Given the description of an element on the screen output the (x, y) to click on. 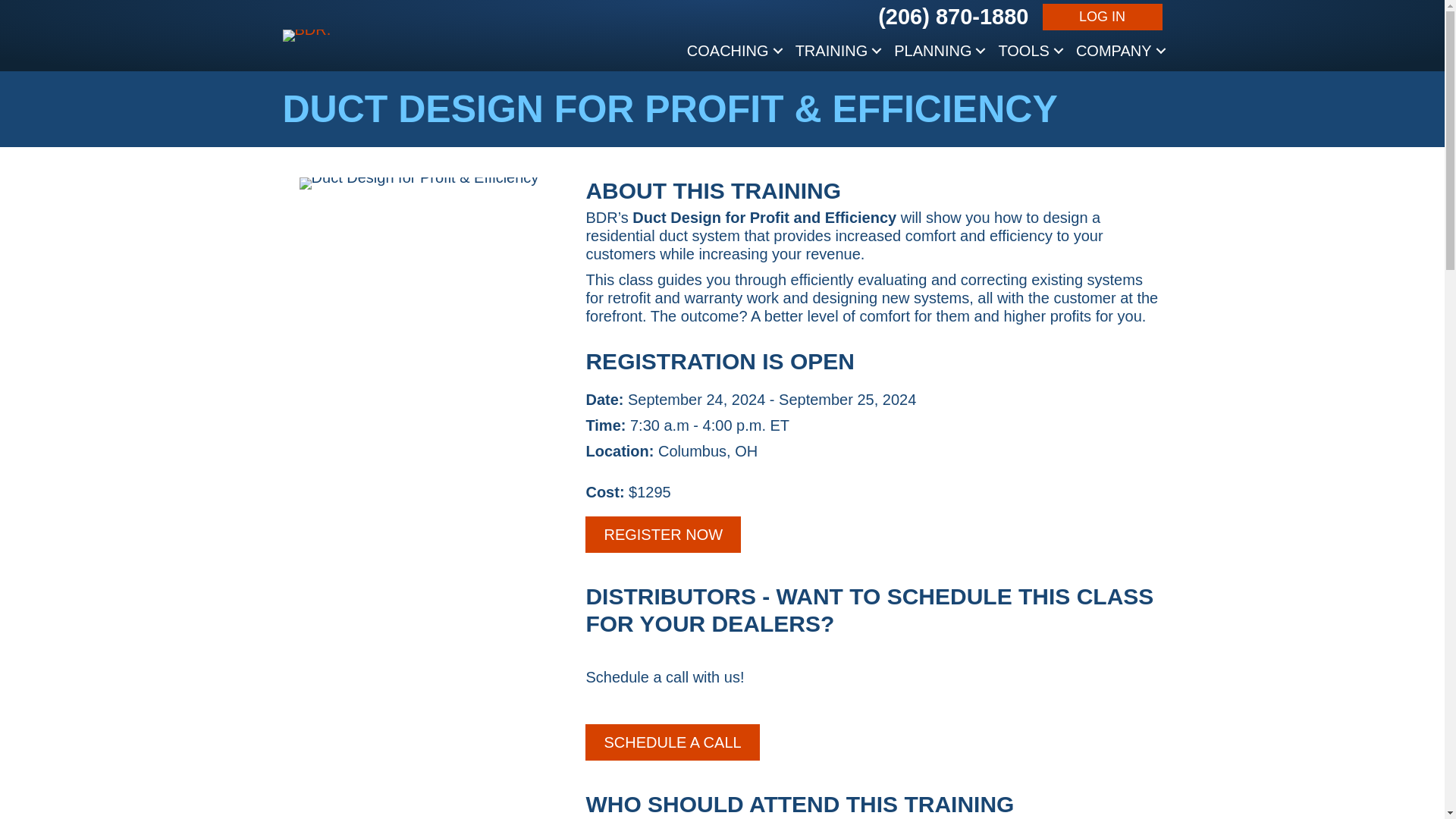
TOOLS (1028, 50)
LOG IN (1102, 16)
Duct Design (418, 183)
TRAINING (836, 50)
PLANNING (938, 50)
COACHING (733, 50)
BDR. (306, 35)
